Given the description of an element on the screen output the (x, y) to click on. 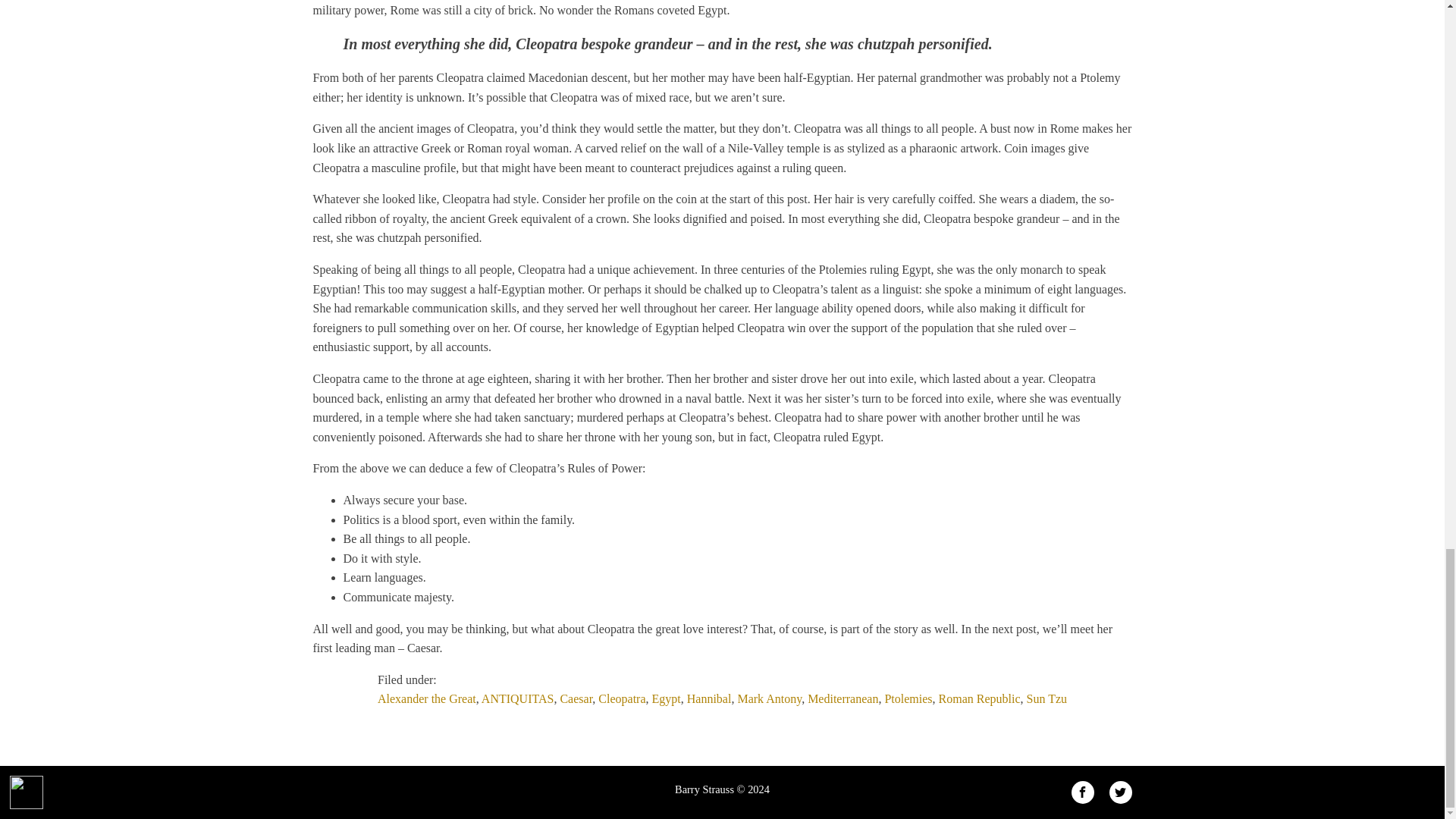
Caesar (575, 698)
Roman Republic (979, 698)
Sun Tzu (1046, 698)
Mediterranean (842, 698)
ANTIQUITAS (517, 698)
Mark Antony (769, 698)
Hannibal (709, 698)
Cleopatra (621, 698)
Ptolemies (907, 698)
Egypt (666, 698)
